Given the description of an element on the screen output the (x, y) to click on. 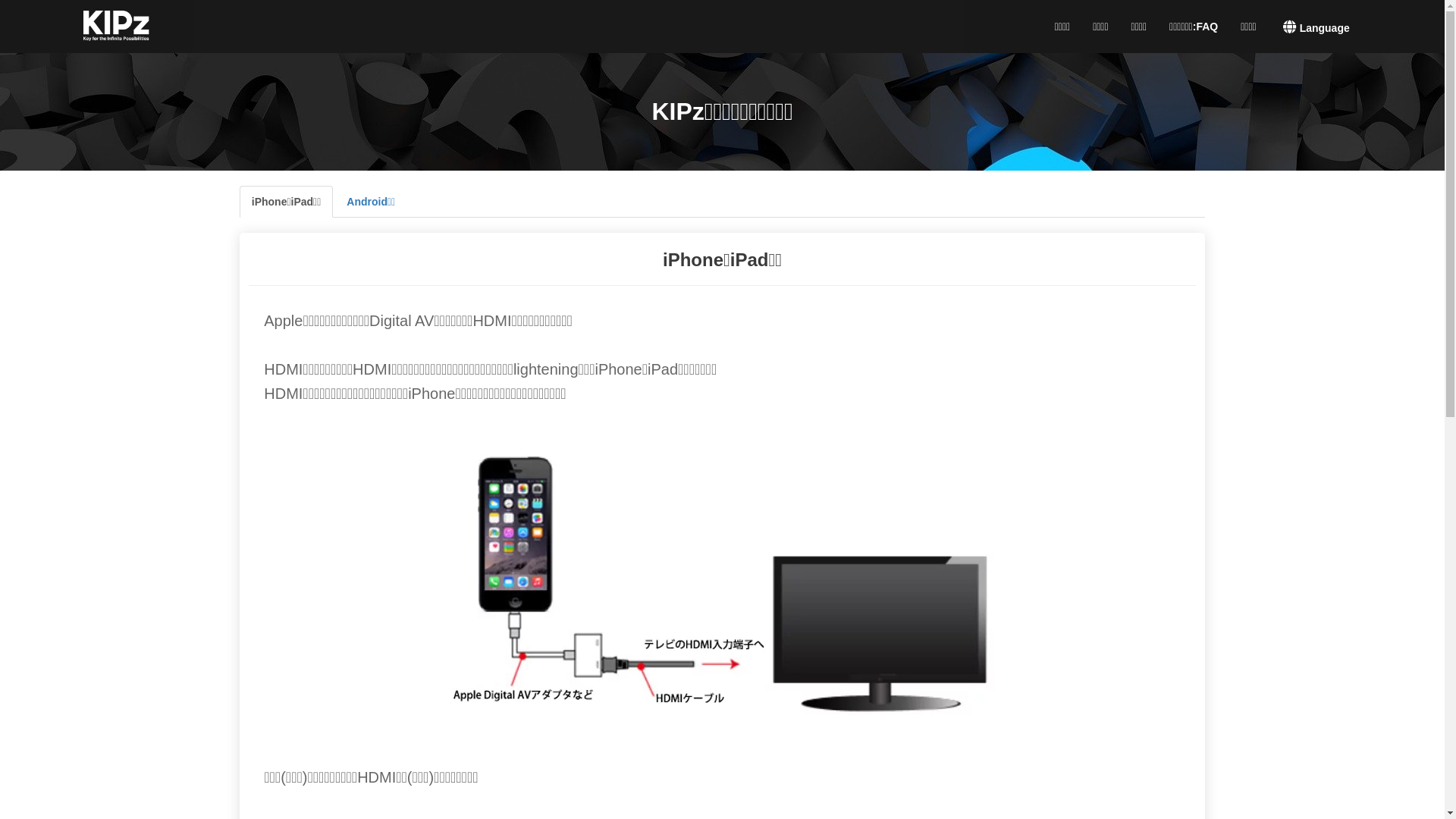
Language Element type: text (1316, 23)
